Given the description of an element on the screen output the (x, y) to click on. 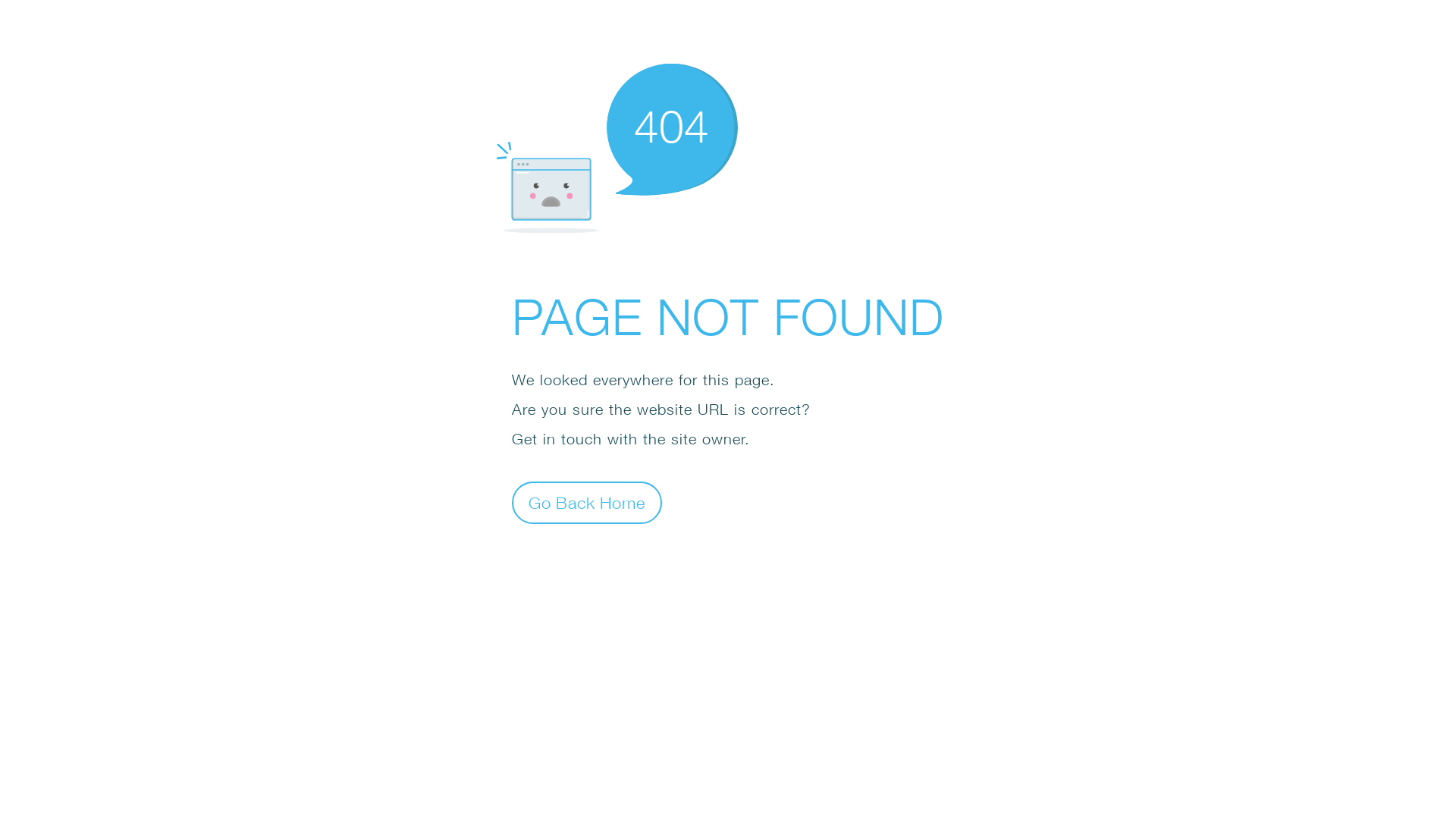
Go Back Home Element type: text (586, 502)
